Given the description of an element on the screen output the (x, y) to click on. 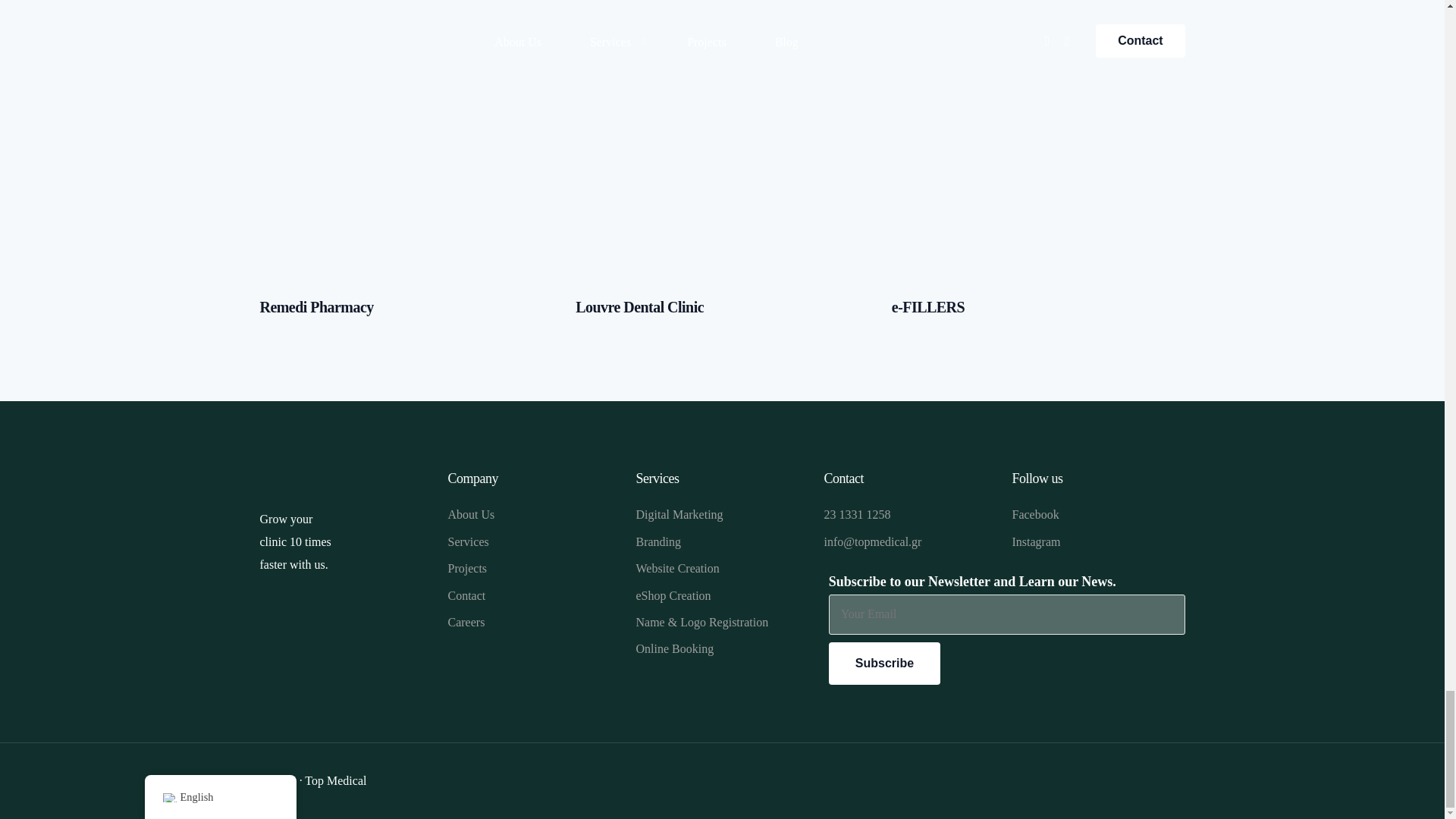
Remedi Pharmacy (315, 305)
Louvre Dental Clinic (639, 305)
View Post:Louvre Dental Clinic (639, 305)
Facebook (1098, 514)
View Post:e-FILLERS (927, 305)
Contact (533, 595)
View Post:Louvre Dental Clinic (722, 162)
23 1331 1258 (909, 514)
Projects (533, 568)
eShop Creation (721, 595)
About Us (533, 514)
Branding (721, 541)
Services (533, 541)
Digital Marketing (721, 514)
Careers (533, 621)
